Given the description of an element on the screen output the (x, y) to click on. 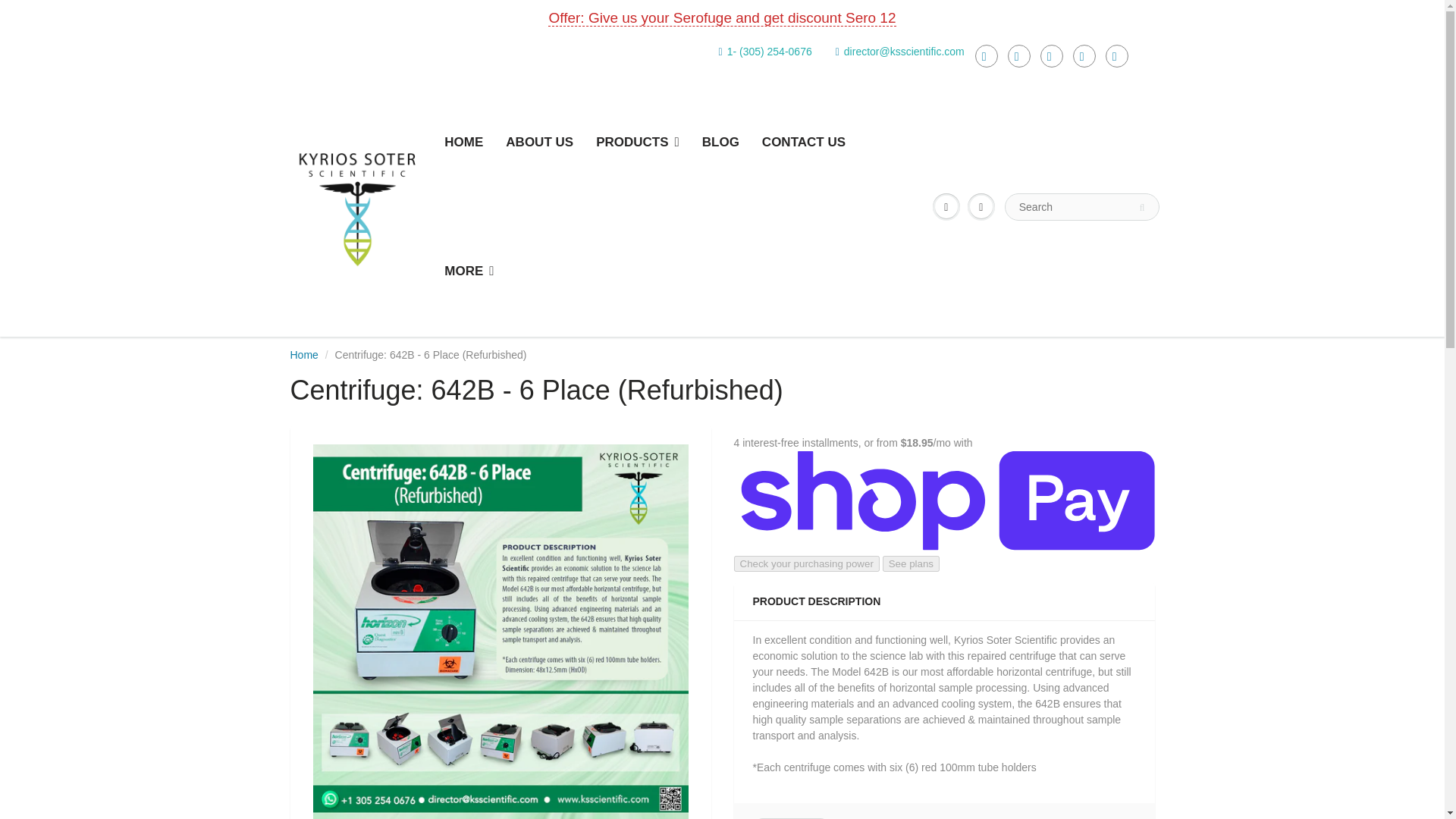
YouTube (1084, 56)
Instagram (1018, 56)
Home (303, 354)
Vimeo (1116, 56)
Offer: Give us your Serofuge and get discount Sero 12 (721, 17)
Facebook (986, 56)
Tumblr (1051, 56)
